Given the description of an element on the screen output the (x, y) to click on. 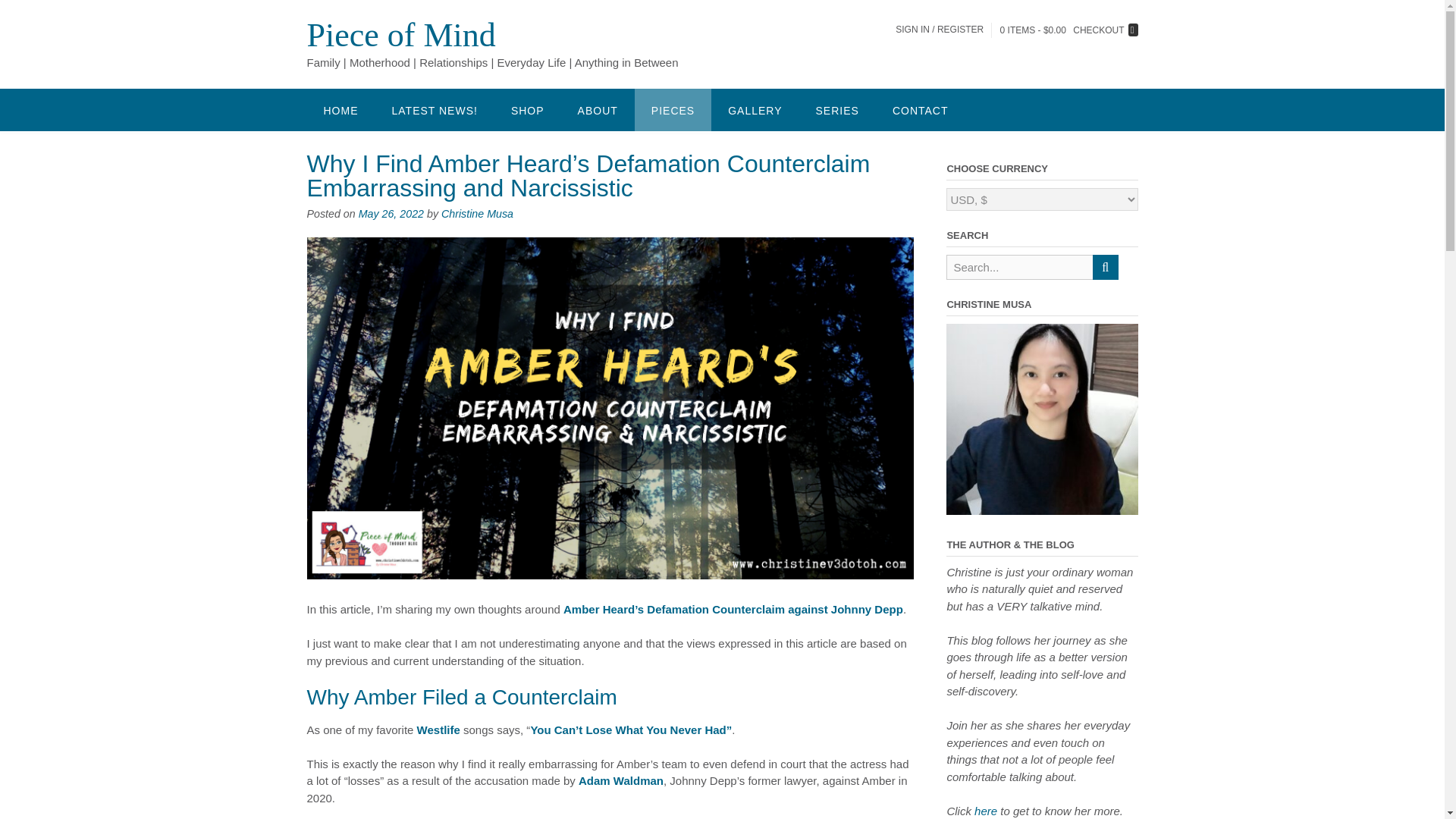
May 26, 2022 (390, 214)
Christine Musa (477, 214)
SERIES (837, 109)
Piece of Mind (400, 35)
Adam Waldman (620, 780)
Search for: (1019, 267)
CONTACT (920, 109)
LATEST NEWS! (433, 109)
HOME (339, 109)
SHOP (527, 109)
